Given the description of an element on the screen output the (x, y) to click on. 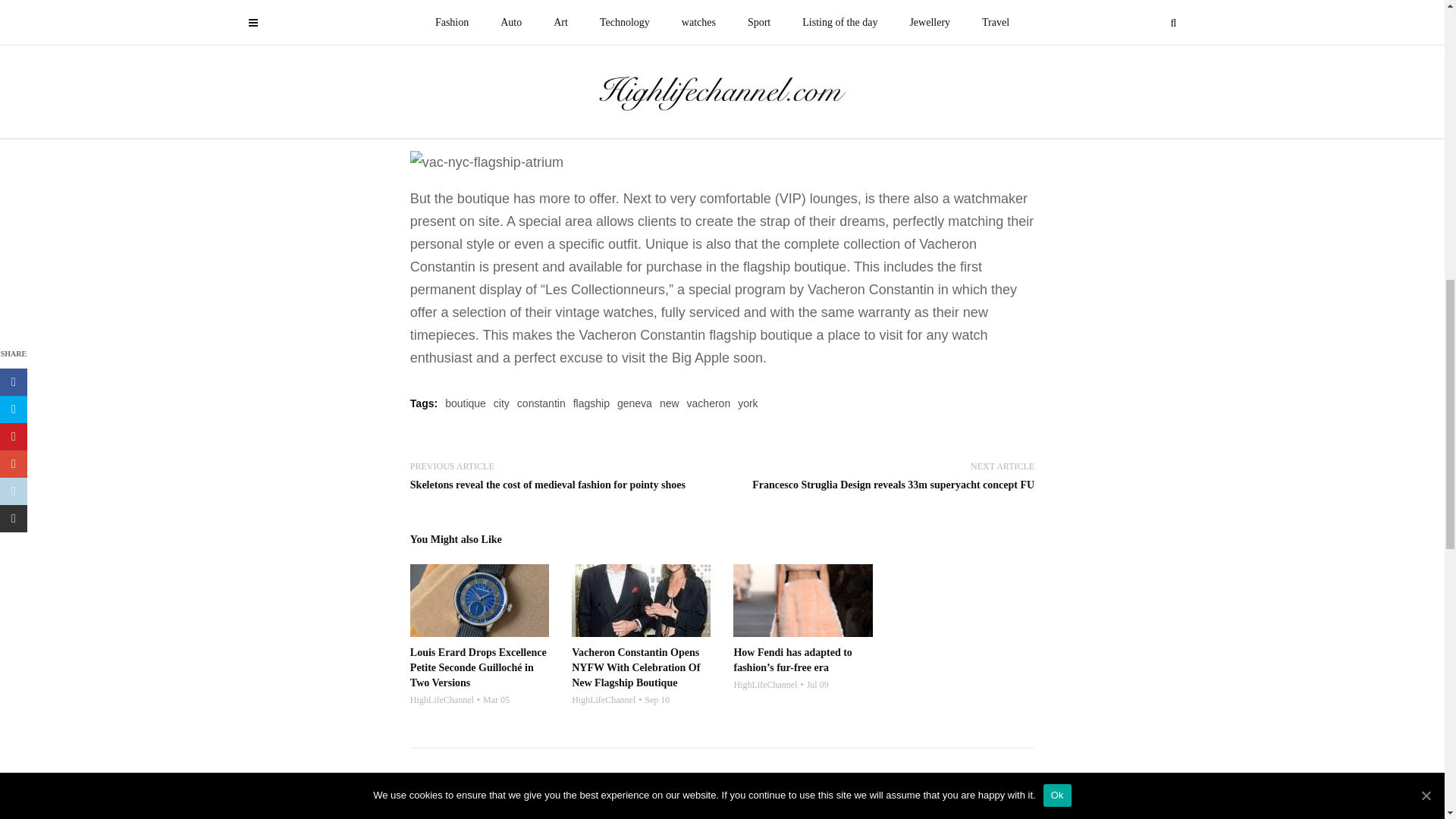
vacheron (708, 403)
geneva (634, 403)
constantin (541, 403)
city (501, 403)
new (669, 403)
flagship (591, 403)
boutique (465, 403)
